Given the description of an element on the screen output the (x, y) to click on. 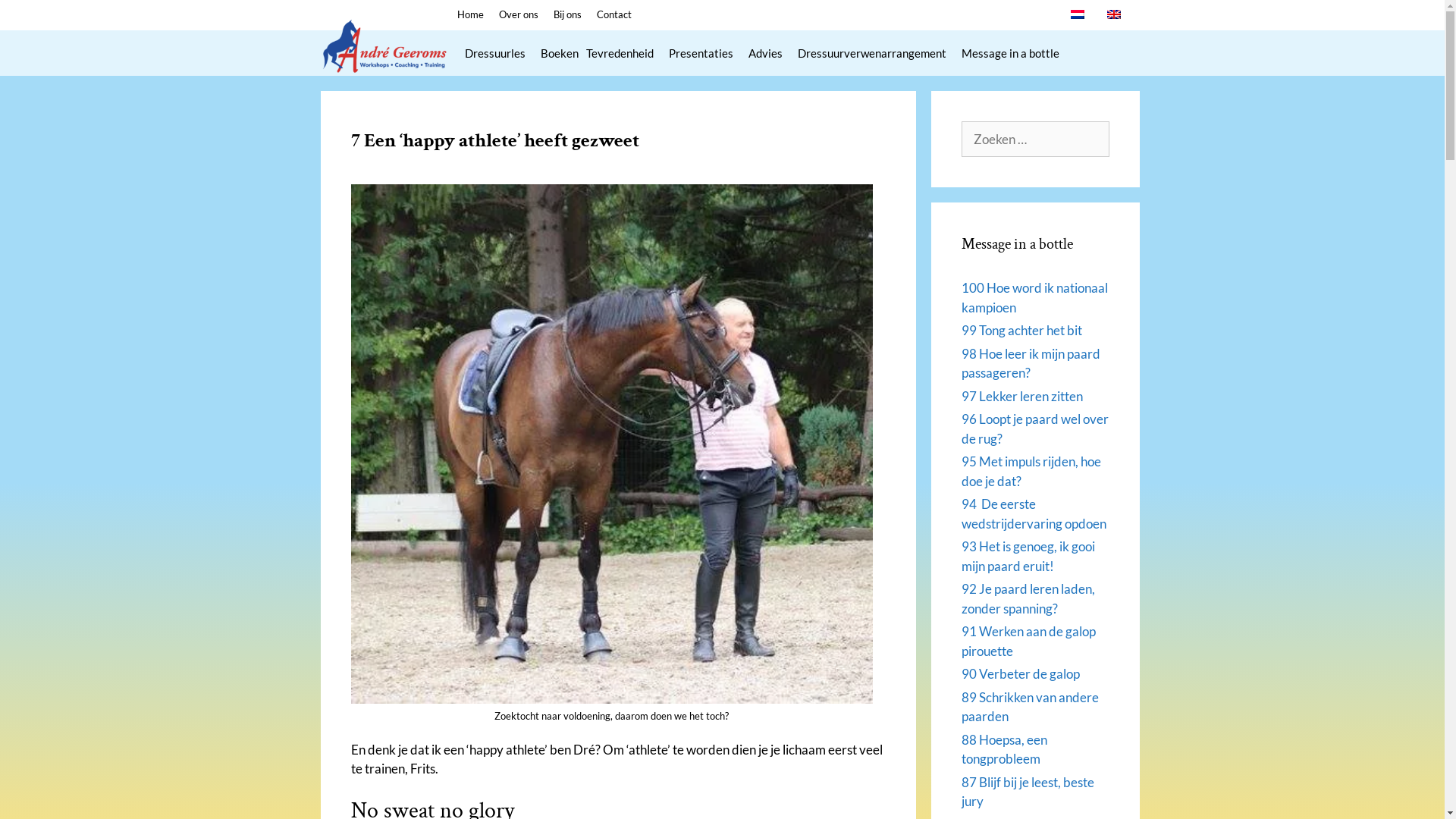
Message in a bottle Element type: text (1009, 52)
91 Werken aan de galop pirouette Element type: text (1028, 640)
89 Schrikken van andere paarden Element type: text (1029, 706)
92 Je paard leren laden, zonder spanning? Element type: text (1028, 598)
95 Met impuls rijden, hoe doe je dat? Element type: text (1031, 471)
Presentaties Element type: text (700, 52)
Dressuurverwenarrangement Element type: text (871, 52)
87 Blijf bij je leest, beste jury Element type: text (1027, 791)
Over ons Element type: text (518, 14)
Home Element type: text (469, 14)
Zoek naar: Element type: hover (1035, 139)
90 Verbeter de galop Element type: text (1020, 673)
Boeken Element type: text (558, 52)
93 Het is genoeg, ik gooi mijn paard eruit! Element type: text (1028, 556)
97 Lekker leren zitten Element type: text (1021, 396)
96 Loopt je paard wel over de rug? Element type: text (1034, 428)
Contact Element type: text (613, 14)
Dressuurles Element type: text (494, 52)
100 Hoe word ik nationaal kampioen Element type: text (1034, 297)
99 Tong achter het bit Element type: text (1021, 330)
Tevredenheid Element type: text (622, 52)
98 Hoe leer ik mijn paard passageren? Element type: text (1030, 363)
94  De eerste wedstrijdervaring opdoen Element type: text (1033, 513)
88 Hoepsa, een tongprobleem Element type: text (1004, 748)
Dutch Element type: hover (1077, 13)
Zoeken Element type: text (36, 18)
Bij ons Element type: text (567, 14)
Advies Element type: text (764, 52)
English Element type: hover (1113, 13)
